Given the description of an element on the screen output the (x, y) to click on. 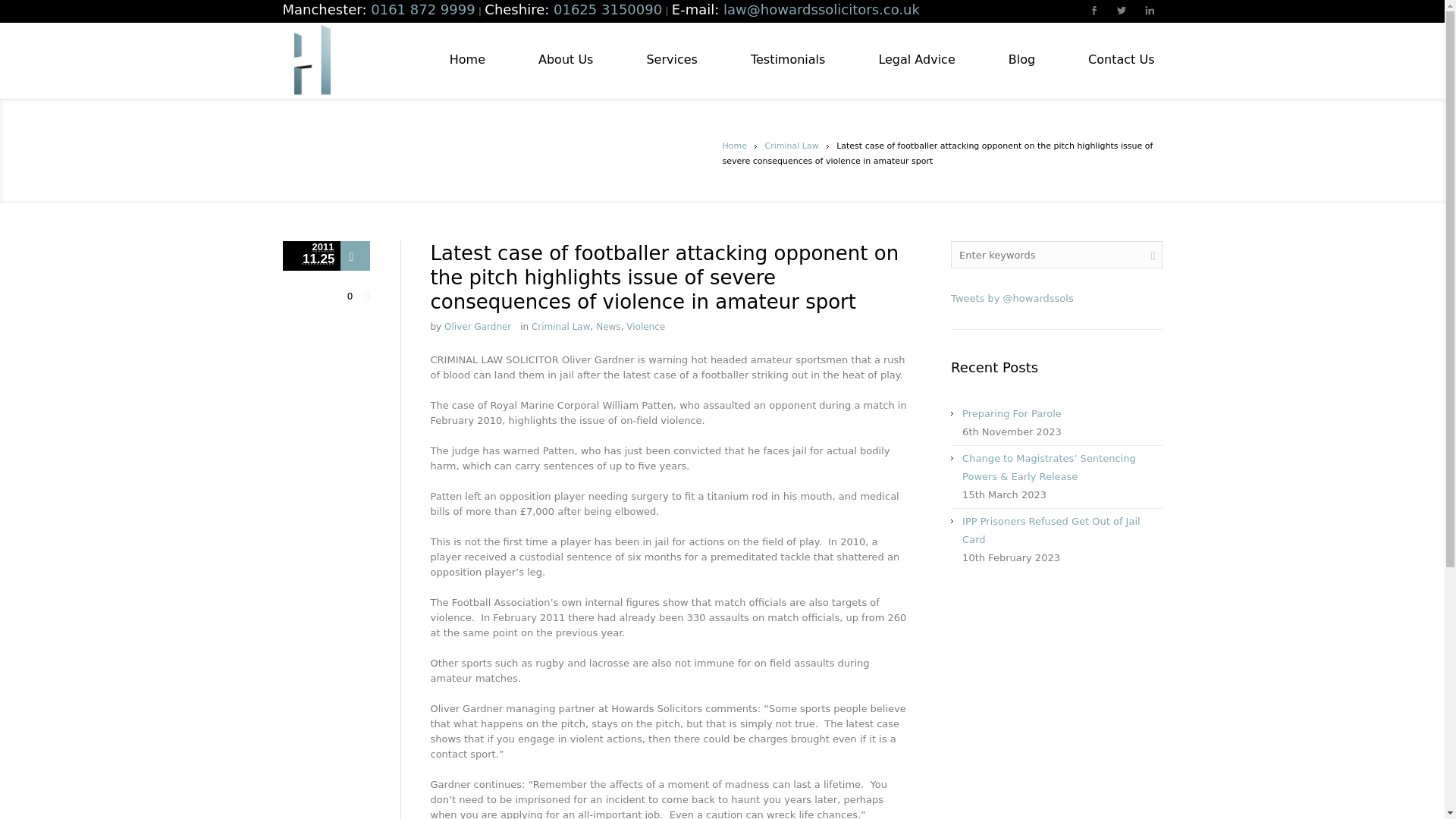
Home (467, 59)
Preparing For Parole (1011, 413)
About Us (565, 59)
Cheshire: 01625 3150090 (573, 10)
Posts by Oliver Gardner (477, 326)
Services (671, 59)
Manchester: 0161 872 9999 (378, 10)
November 25, 2011 (310, 255)
Testimonials (787, 59)
IPP Prisoners Refused Get Out of Jail Card (1051, 530)
Legal Advice (916, 59)
